Given the description of an element on the screen output the (x, y) to click on. 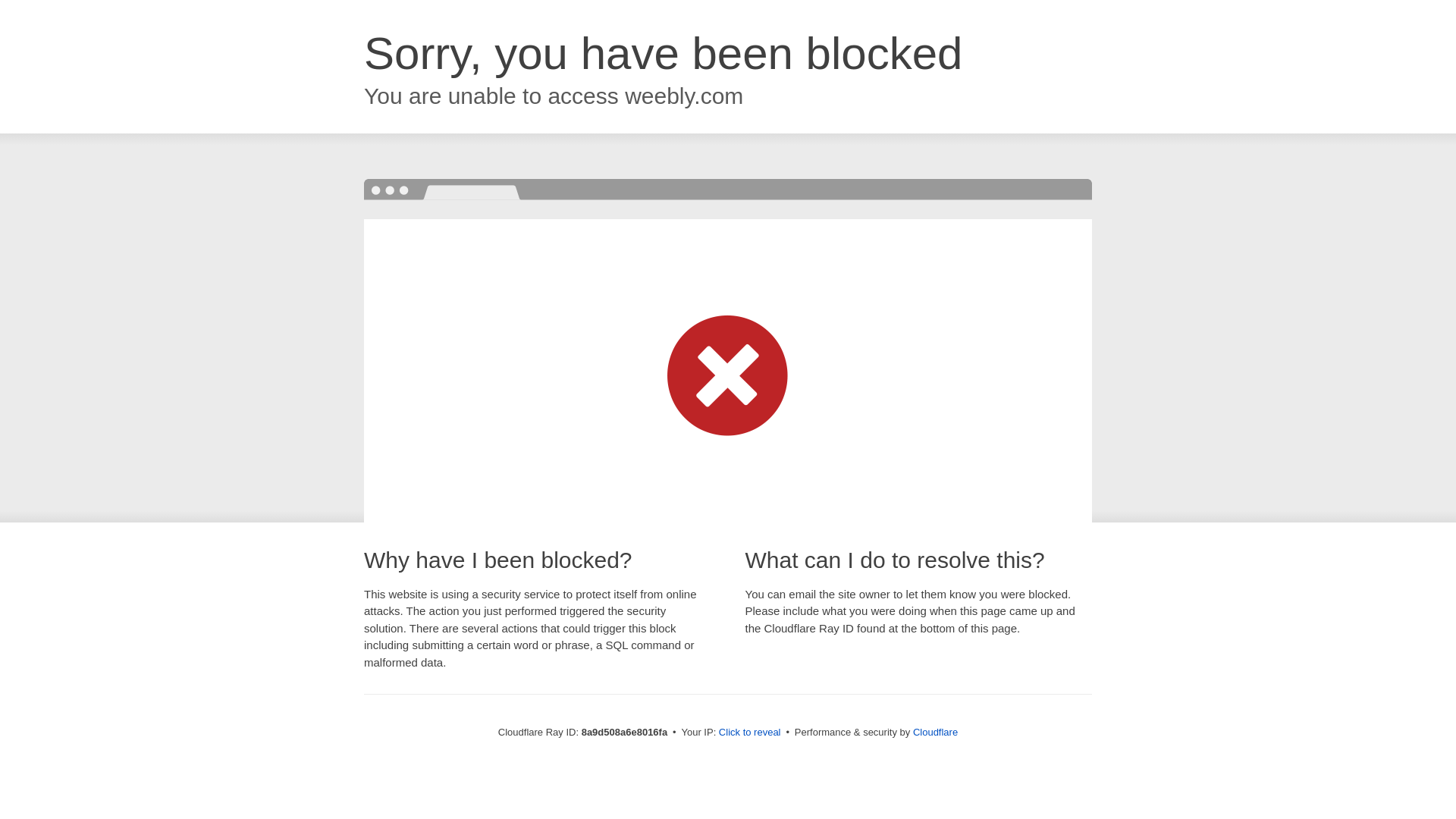
Click to reveal (749, 732)
Cloudflare (935, 731)
